Given the description of an element on the screen output the (x, y) to click on. 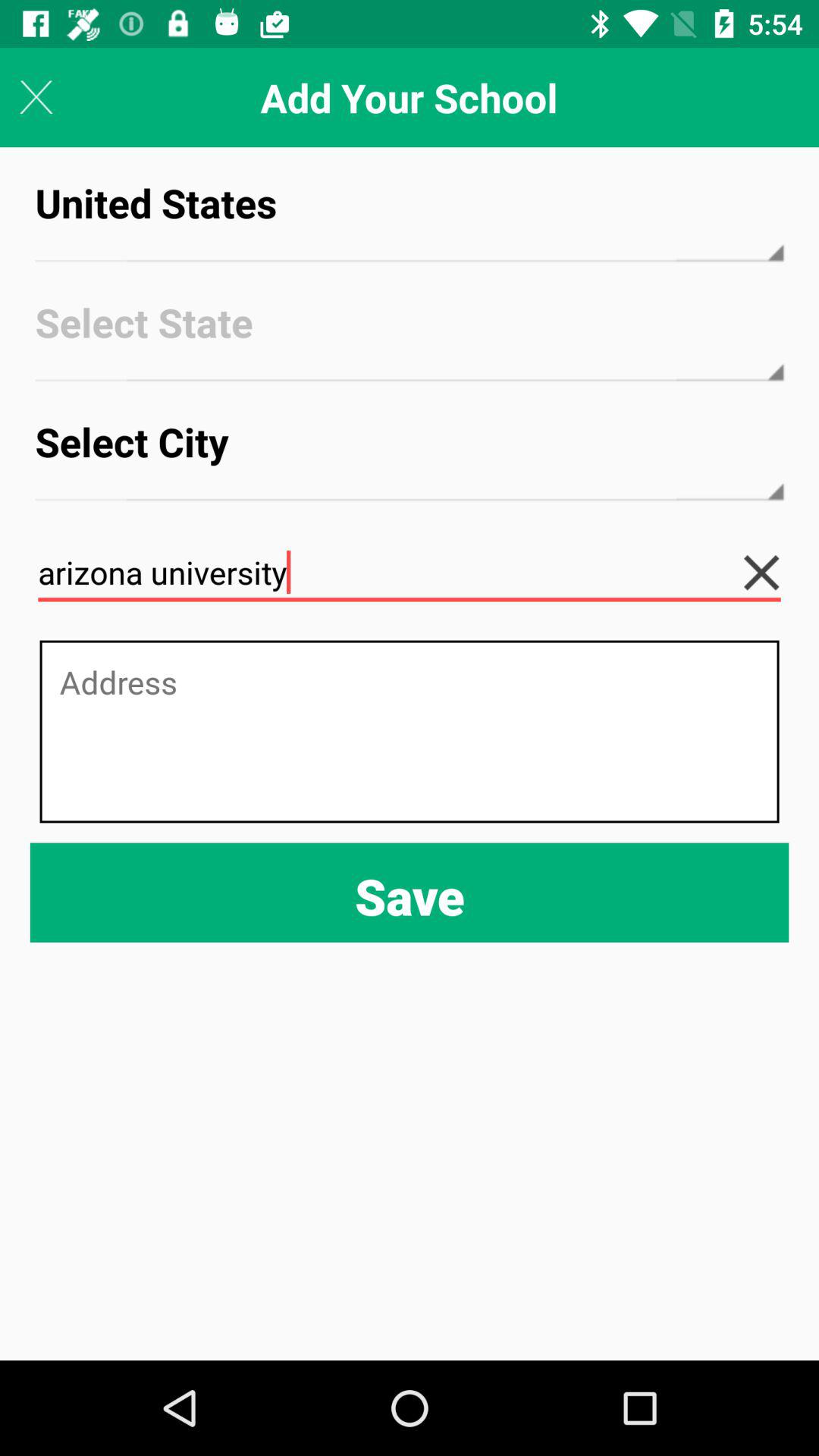
scroll to the united states item (409, 216)
